Given the description of an element on the screen output the (x, y) to click on. 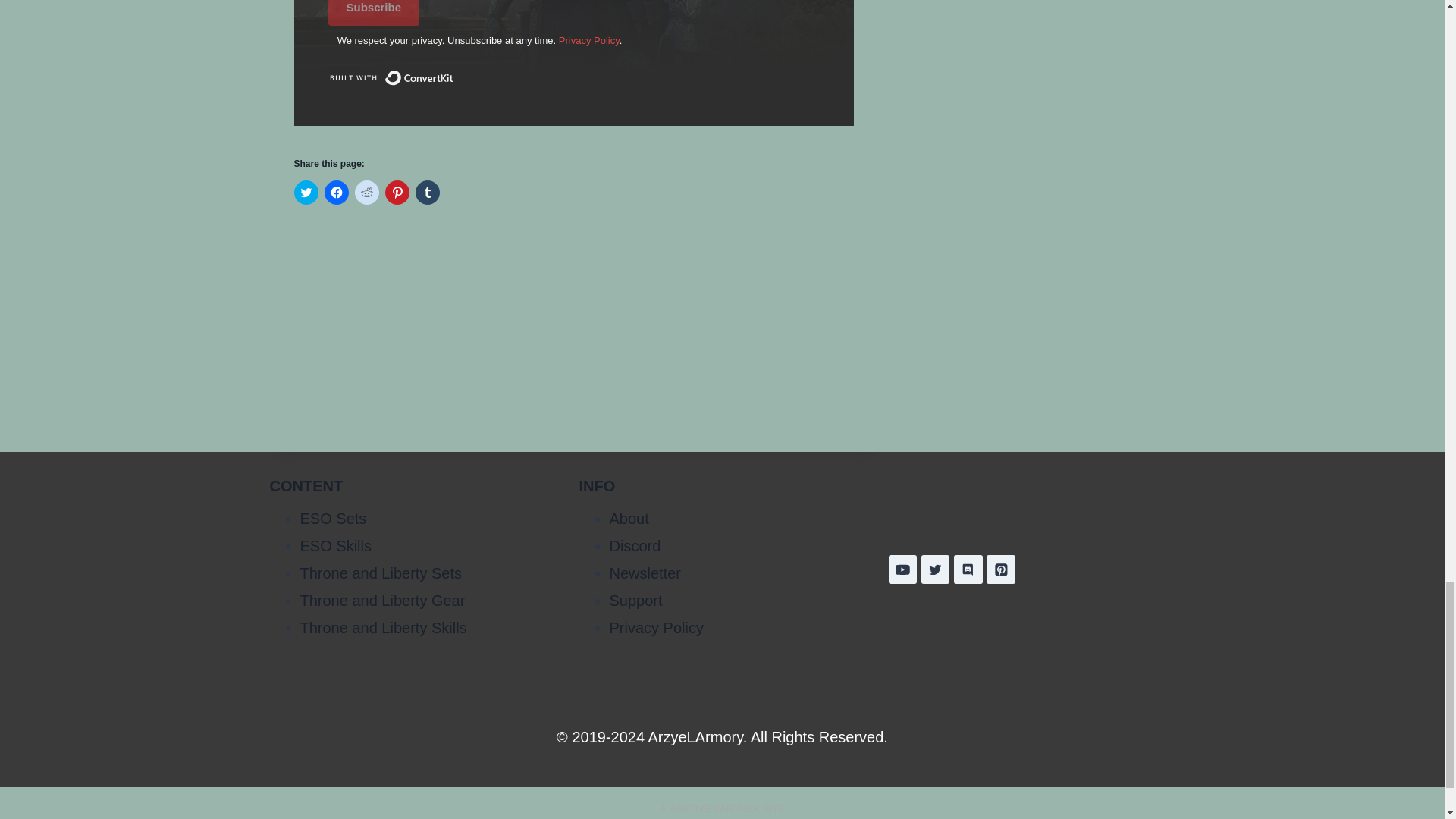
Click to share on Tumblr (426, 192)
Click to share on Reddit (366, 192)
Click to share on Facebook (336, 192)
Click to share on Twitter (306, 192)
Click to share on Pinterest (397, 192)
